Given the description of an element on the screen output the (x, y) to click on. 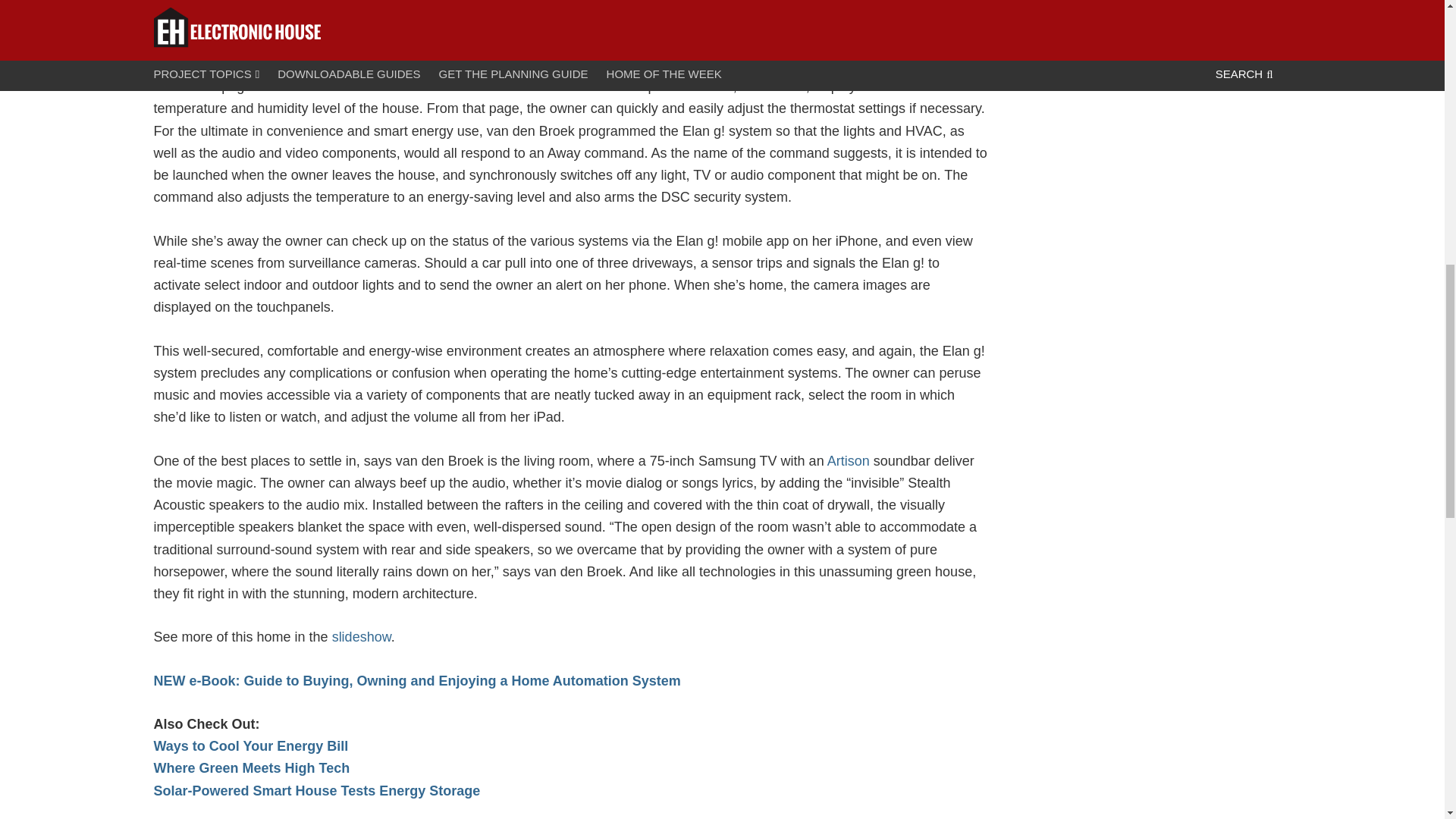
NEW e-Book (415, 680)
Solar-Powered Smart House Tests Energy Storage (316, 790)
slideshow (361, 636)
Lutron RadioRA  (562, 43)
Where Green Meets High Tech (250, 767)
Ways to Cool Your Energy Bill (249, 745)
Lutron RadioRA (562, 43)
Artison (848, 460)
